Given the description of an element on the screen output the (x, y) to click on. 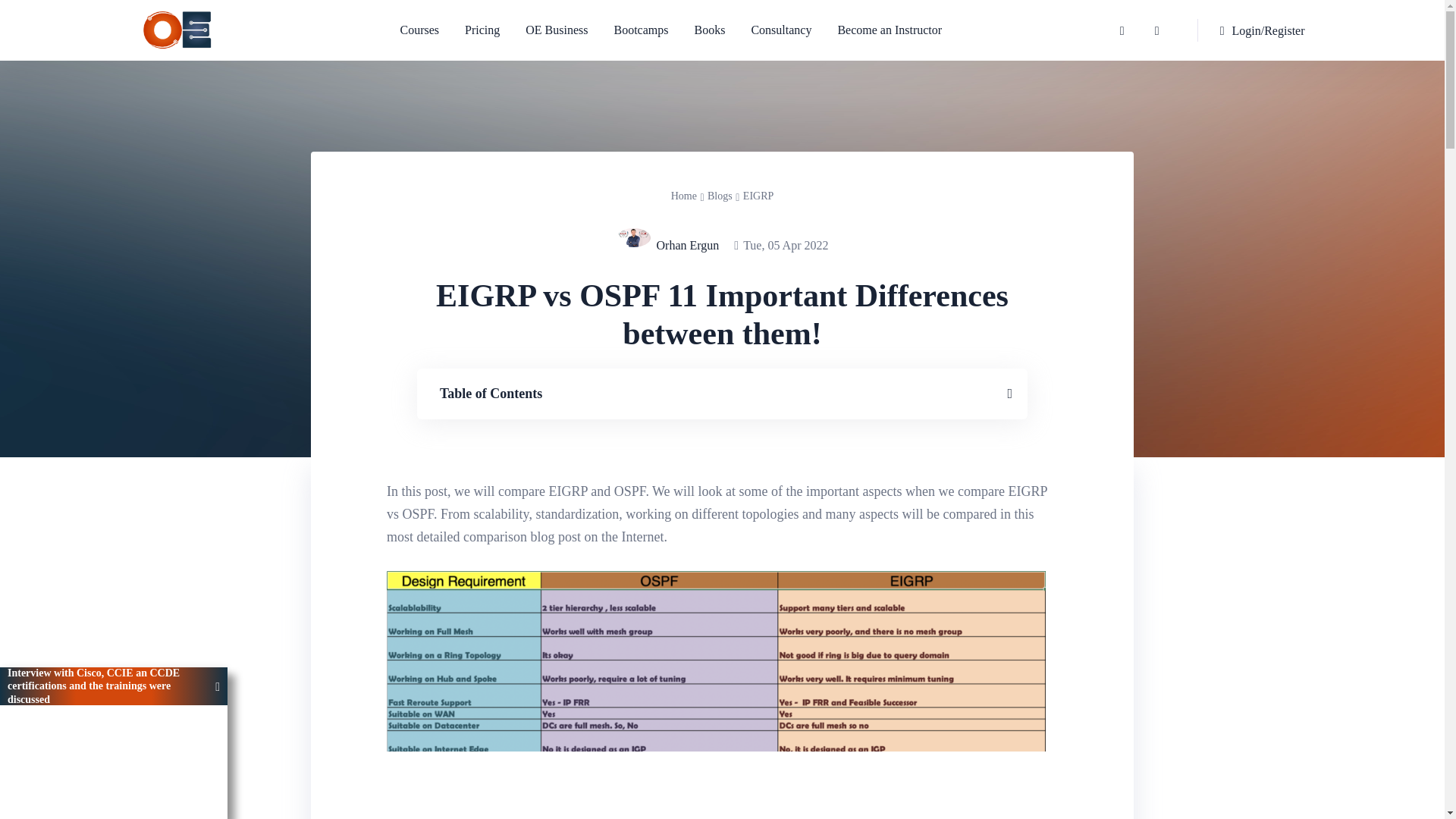
OE Business (555, 30)
EIGRP (757, 195)
Become an Instructor (883, 30)
Table of Contents (718, 394)
Orhan Ergun (687, 244)
Pricing (481, 30)
Bootcamps (640, 30)
Books (709, 30)
Blogs (719, 195)
Home (684, 195)
